Given the description of an element on the screen output the (x, y) to click on. 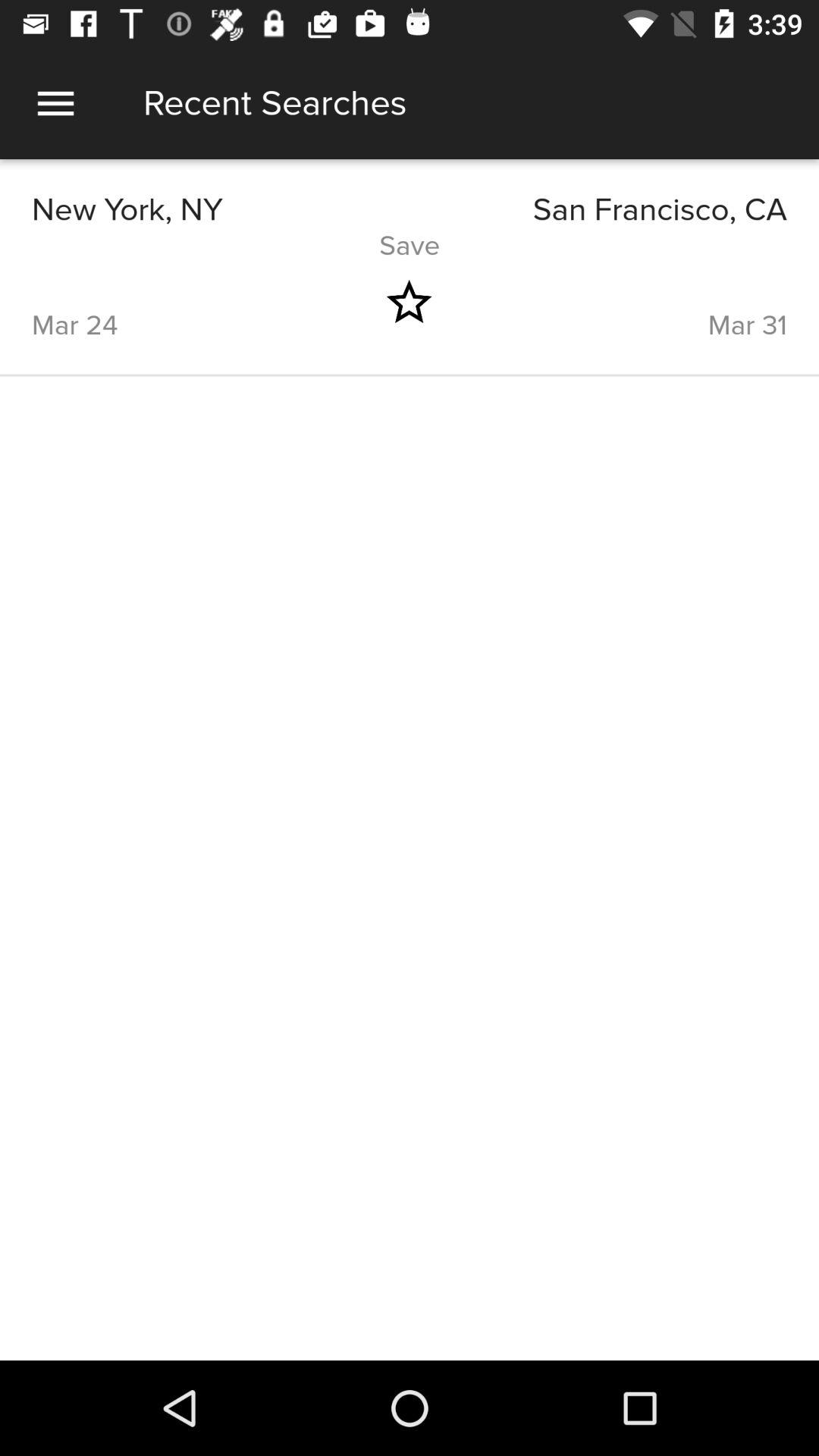
tap mar 31 item (635, 302)
